Given the description of an element on the screen output the (x, y) to click on. 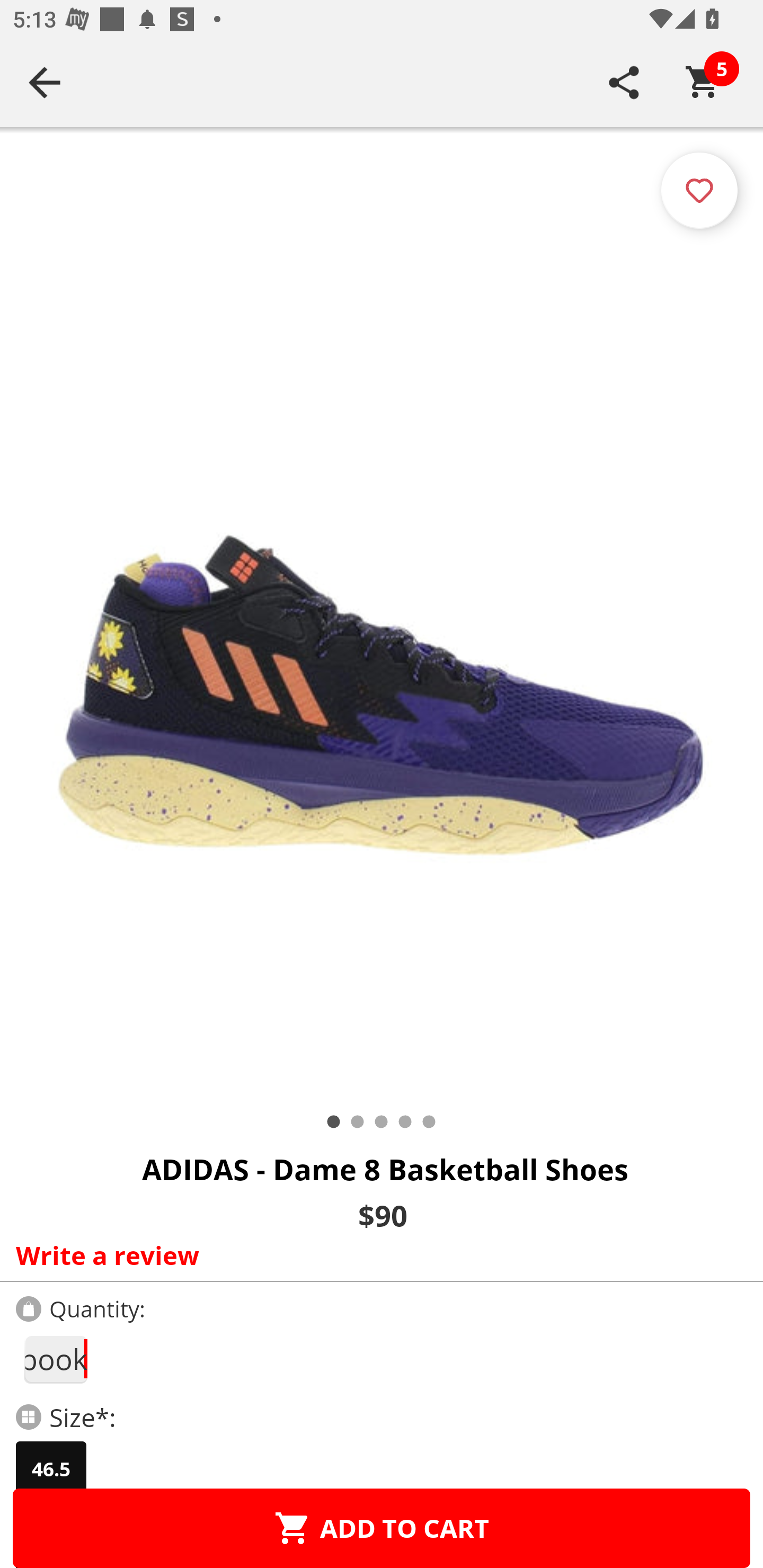
Navigate up (44, 82)
SHARE (623, 82)
Cart (703, 81)
Write a review (377, 1255)
1notebook (55, 1358)
46.5 (51, 1468)
ADD TO CART (381, 1528)
